Given the description of an element on the screen output the (x, y) to click on. 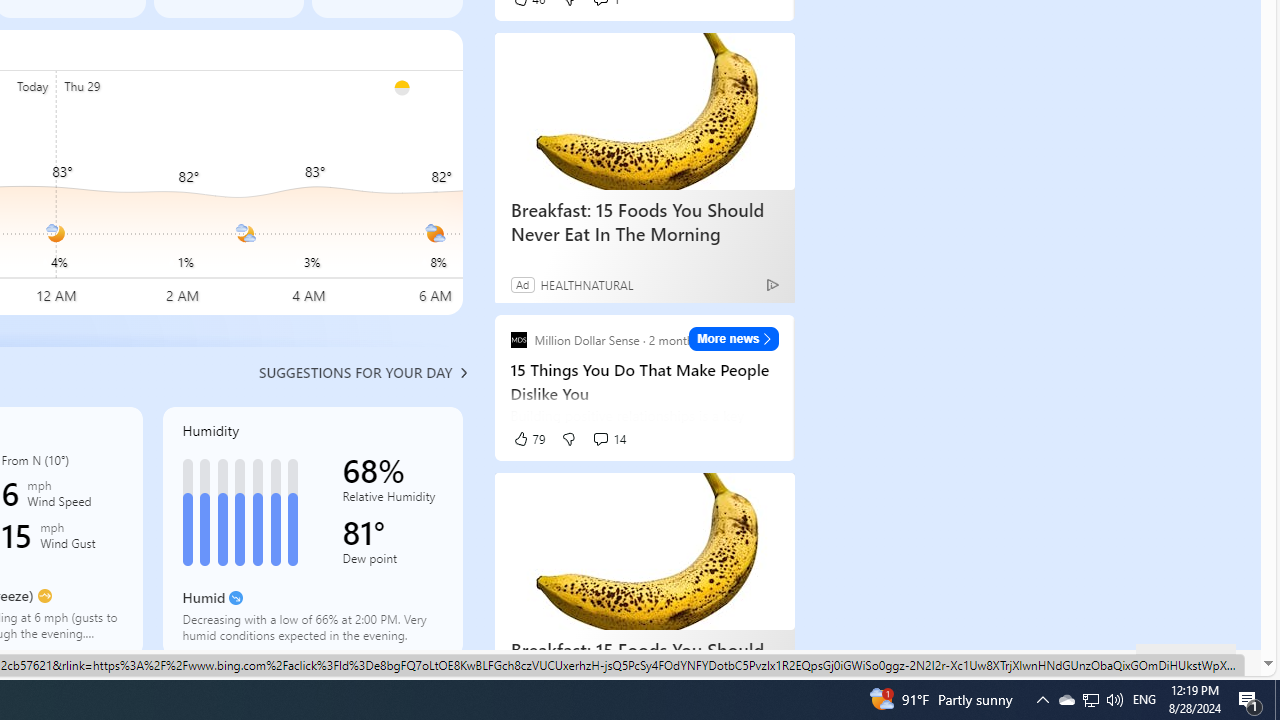
Your Privacy Choices (456, 662)
HEALTHNATURAL (586, 284)
Advertise (940, 663)
Your Privacy Choices (456, 663)
Data Providers (1025, 663)
Relative Humidity (391, 500)
Privacy & Cookies (759, 662)
Suggestions for your day (355, 372)
Ad (521, 284)
